Given the description of an element on the screen output the (x, y) to click on. 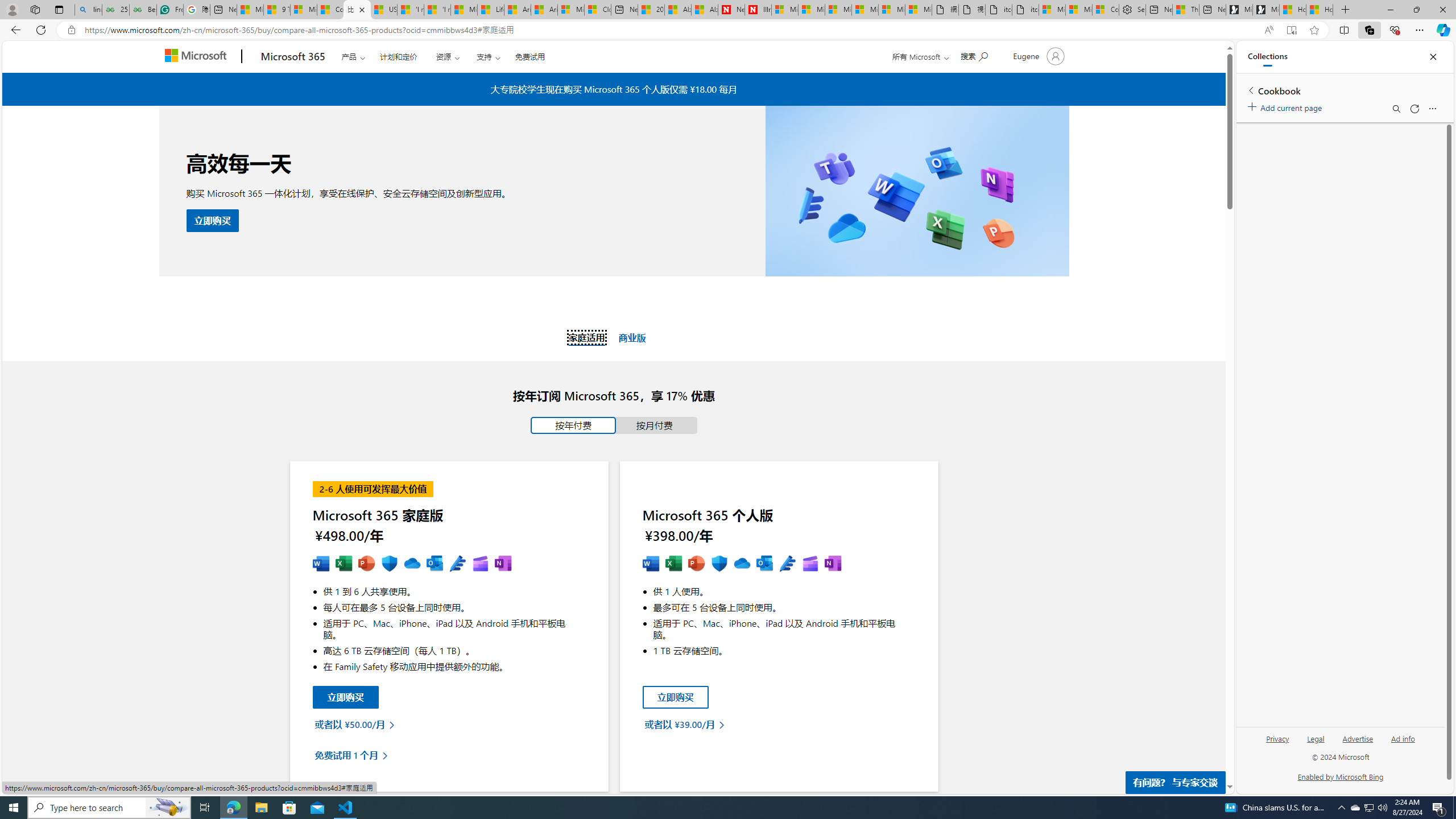
Three Ways To Stop Sweating So Much (1185, 9)
MS Editor (787, 563)
